Given the description of an element on the screen output the (x, y) to click on. 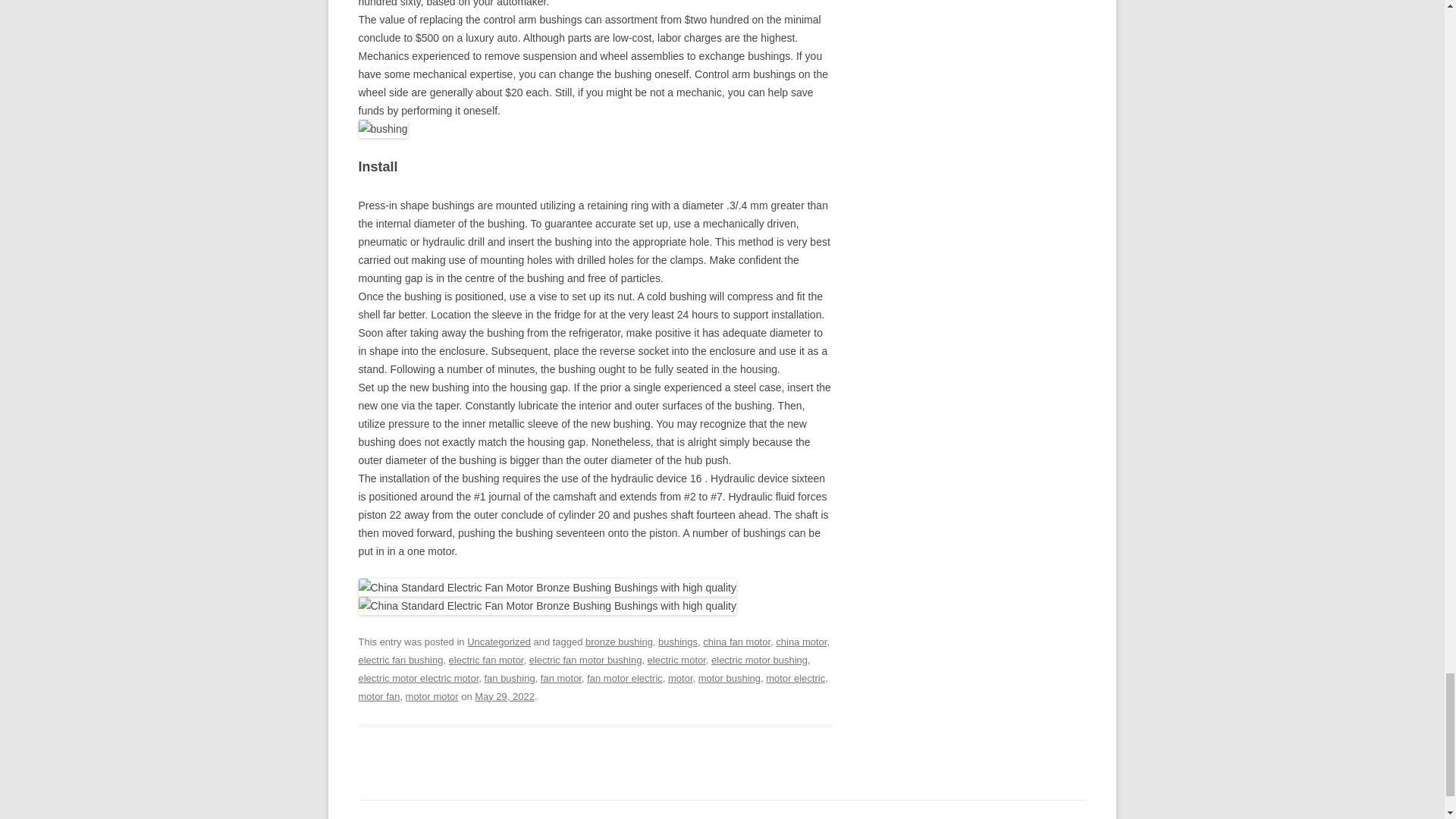
motor fan (378, 696)
electric motor electric motor (418, 677)
bronze bushing (618, 641)
motor motor (432, 696)
electric motor bushing (759, 659)
motor bushing (729, 677)
Uncategorized (499, 641)
bushings (677, 641)
electric fan bushing (400, 659)
electric fan motor (486, 659)
May 29, 2022 (504, 696)
motor electric (795, 677)
fan bushing (508, 677)
fan motor electric (624, 677)
electric motor (676, 659)
